Given the description of an element on the screen output the (x, y) to click on. 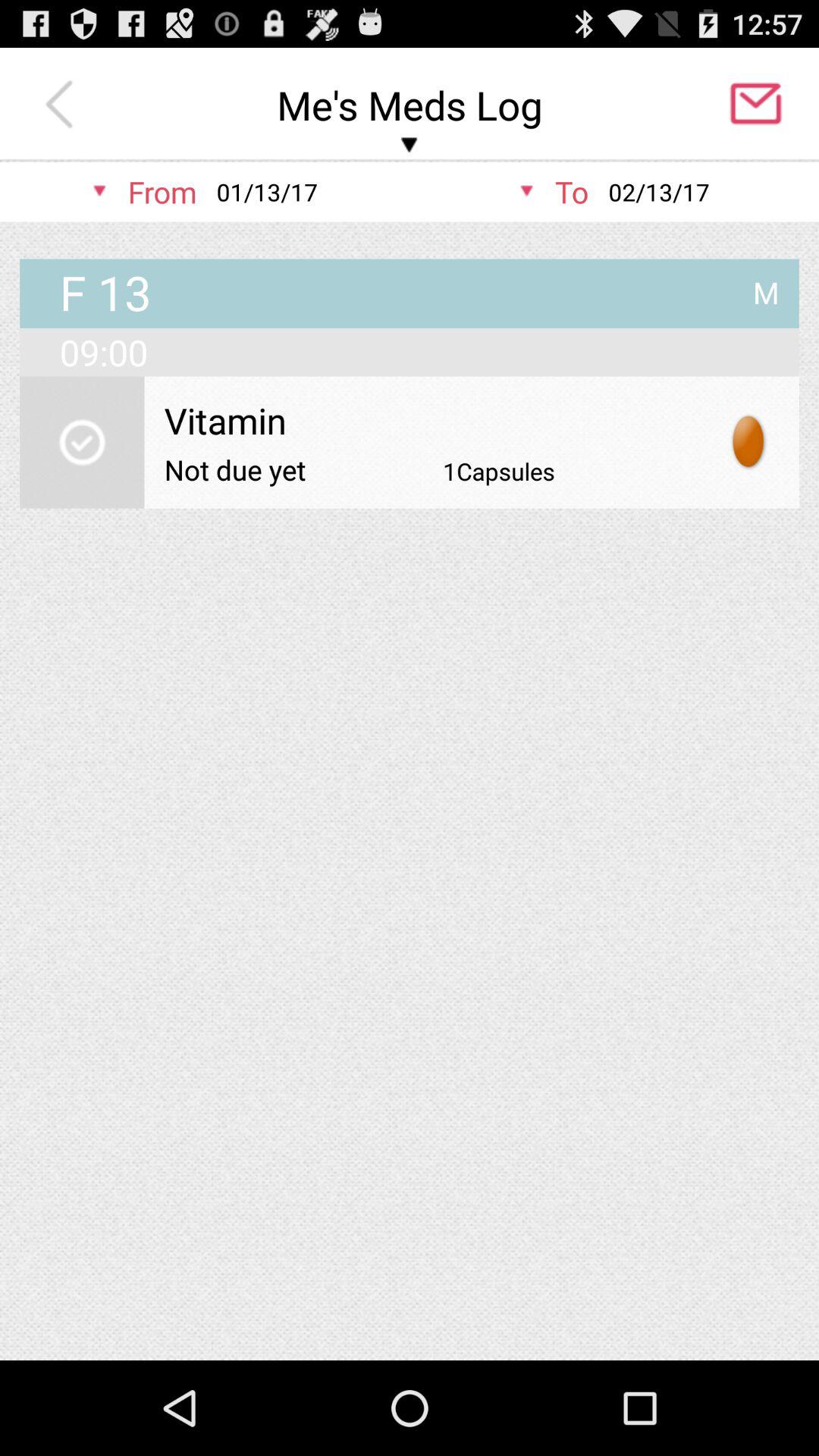
launch the app next to the not due yet app (499, 471)
